Given the description of an element on the screen output the (x, y) to click on. 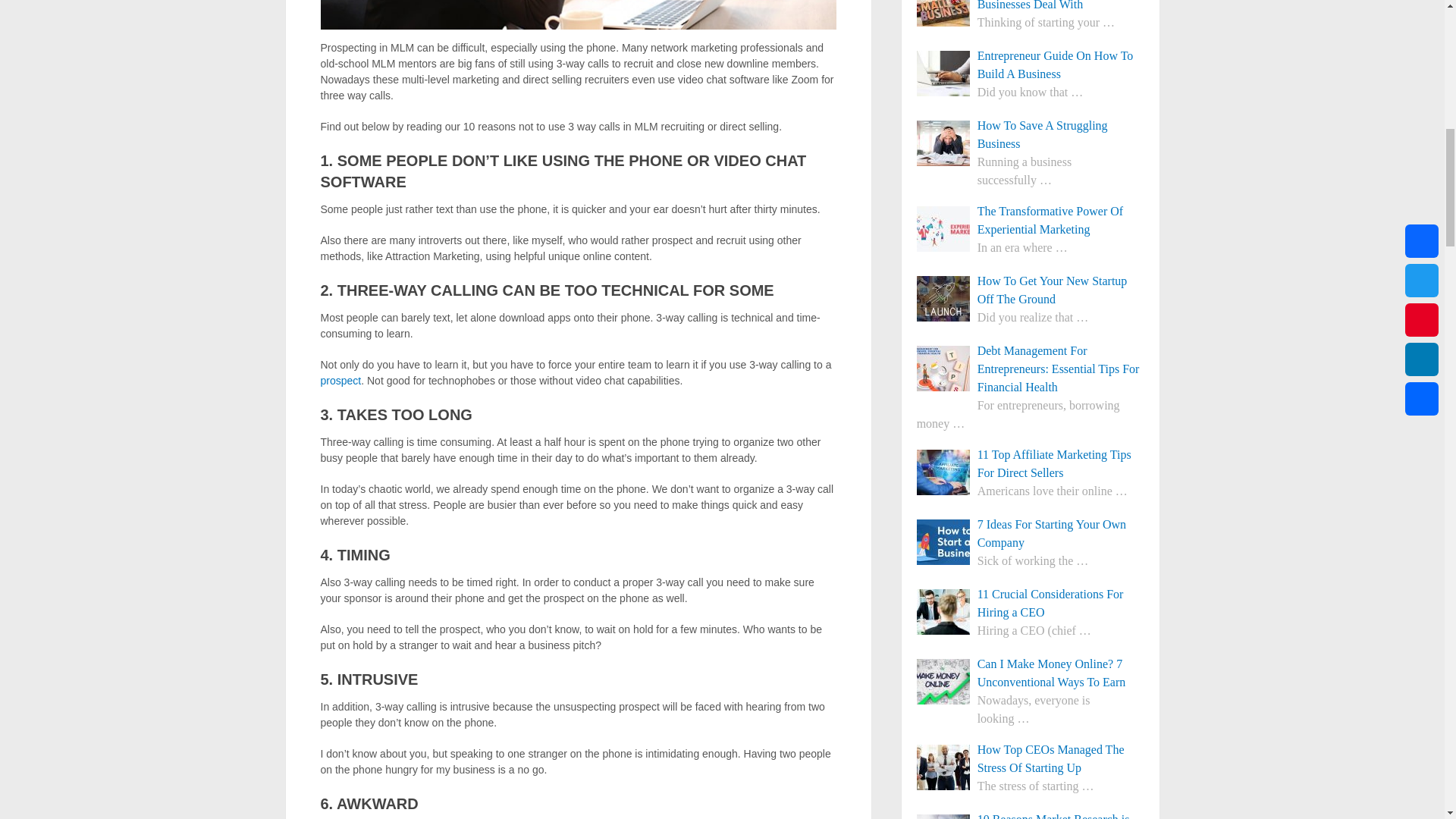
prospect (340, 380)
Entrepreneur Guide On How To Build A Business (1030, 64)
5 Pain Points Most Small Businesses Deal With (1030, 6)
reasons not to use 3 way calls in mlm recruiting (577, 14)
